Given the description of an element on the screen output the (x, y) to click on. 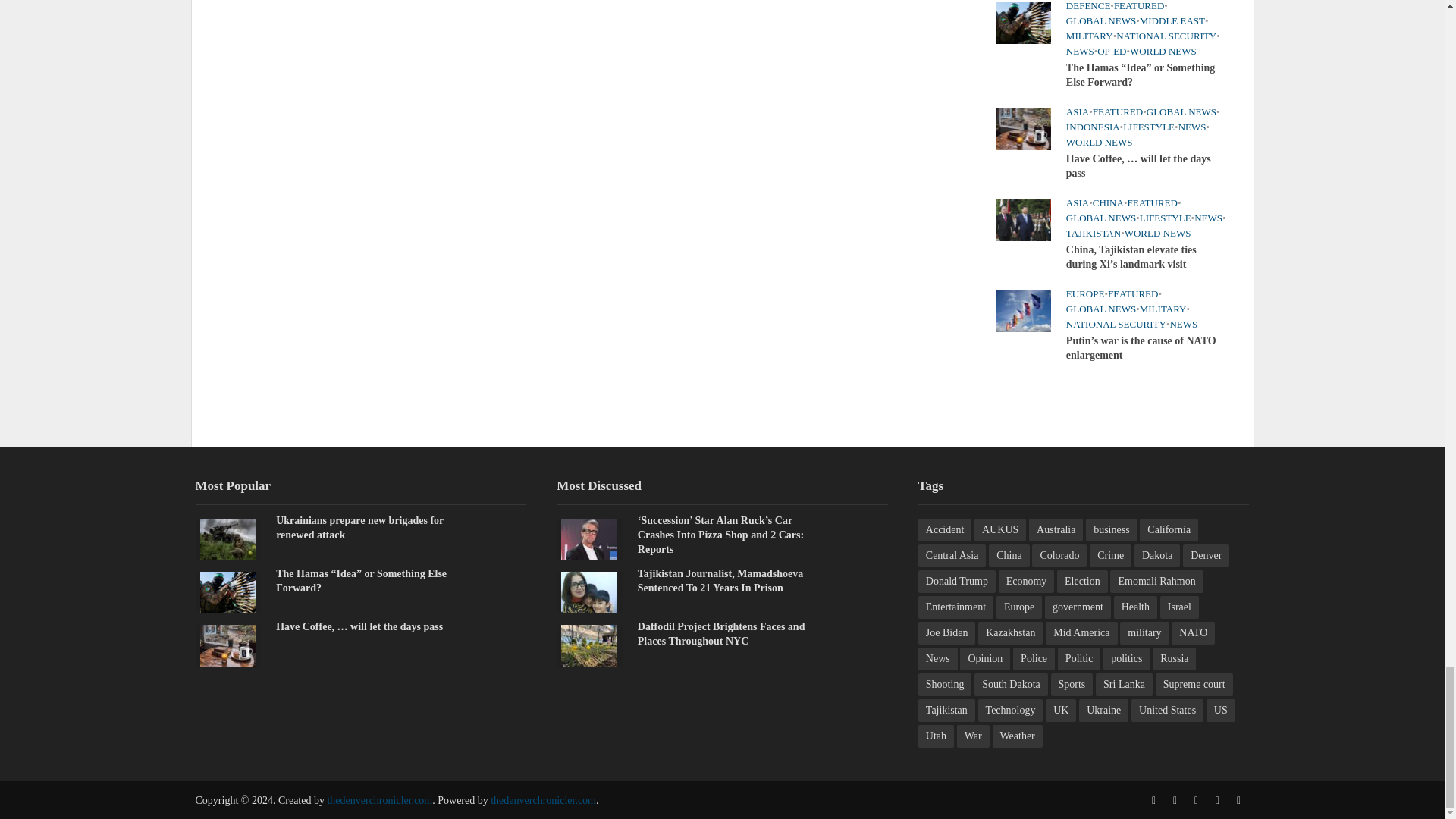
Ukrainians prepare new brigades for renewed attack (228, 538)
